Given the description of an element on the screen output the (x, y) to click on. 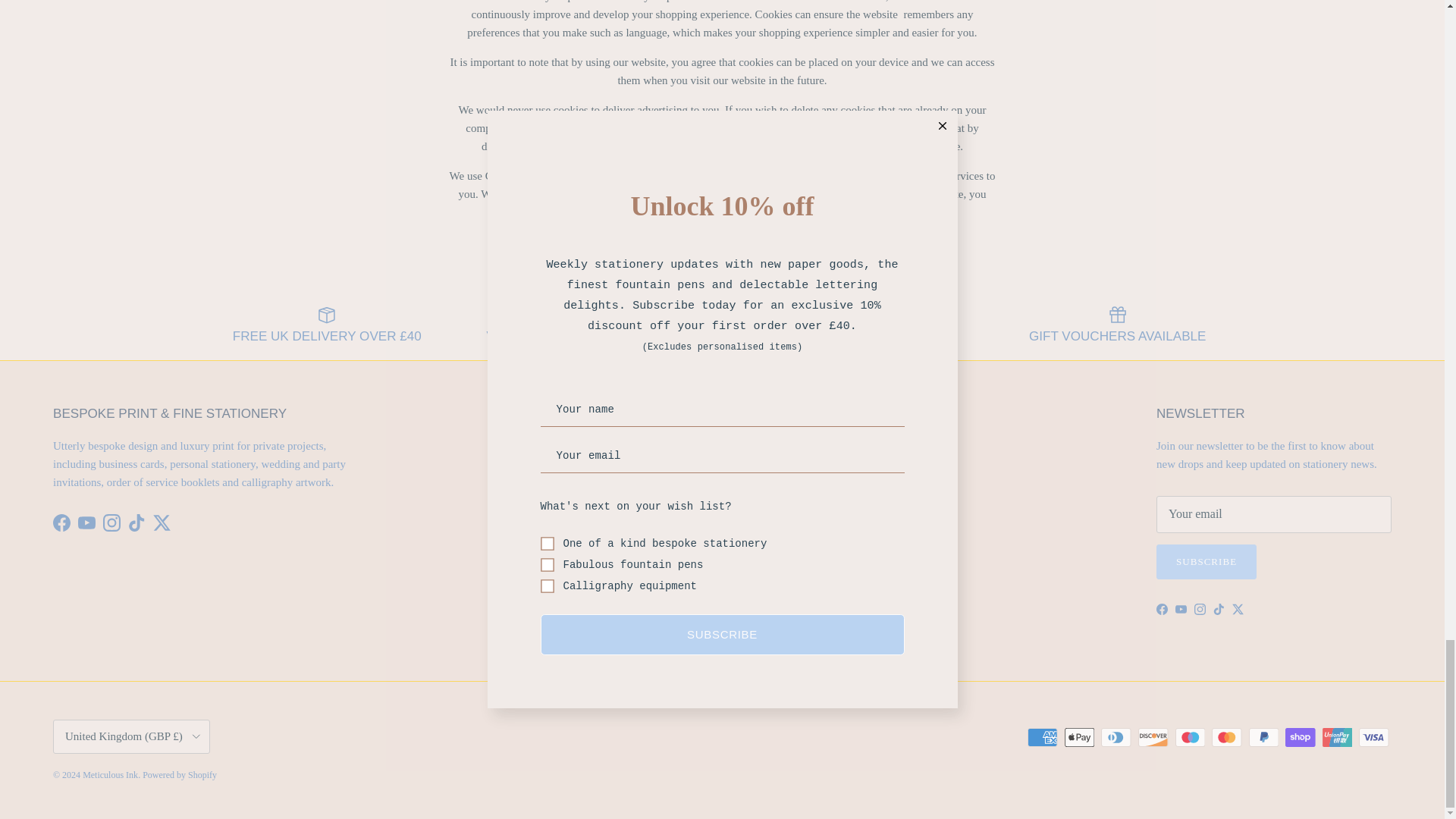
Meticulous Ink on TikTok (136, 522)
Meticulous Ink on TikTok (1218, 609)
Meticulous Ink on YouTube (87, 522)
Meticulous Ink on Facebook (60, 522)
Meticulous Ink on Instagram (1199, 609)
Meticulous Ink on Facebook (1161, 609)
Meticulous Ink on Instagram (111, 522)
Meticulous Ink on YouTube (1180, 609)
Meticulous Ink on Twitter (161, 522)
